Given the description of an element on the screen output the (x, y) to click on. 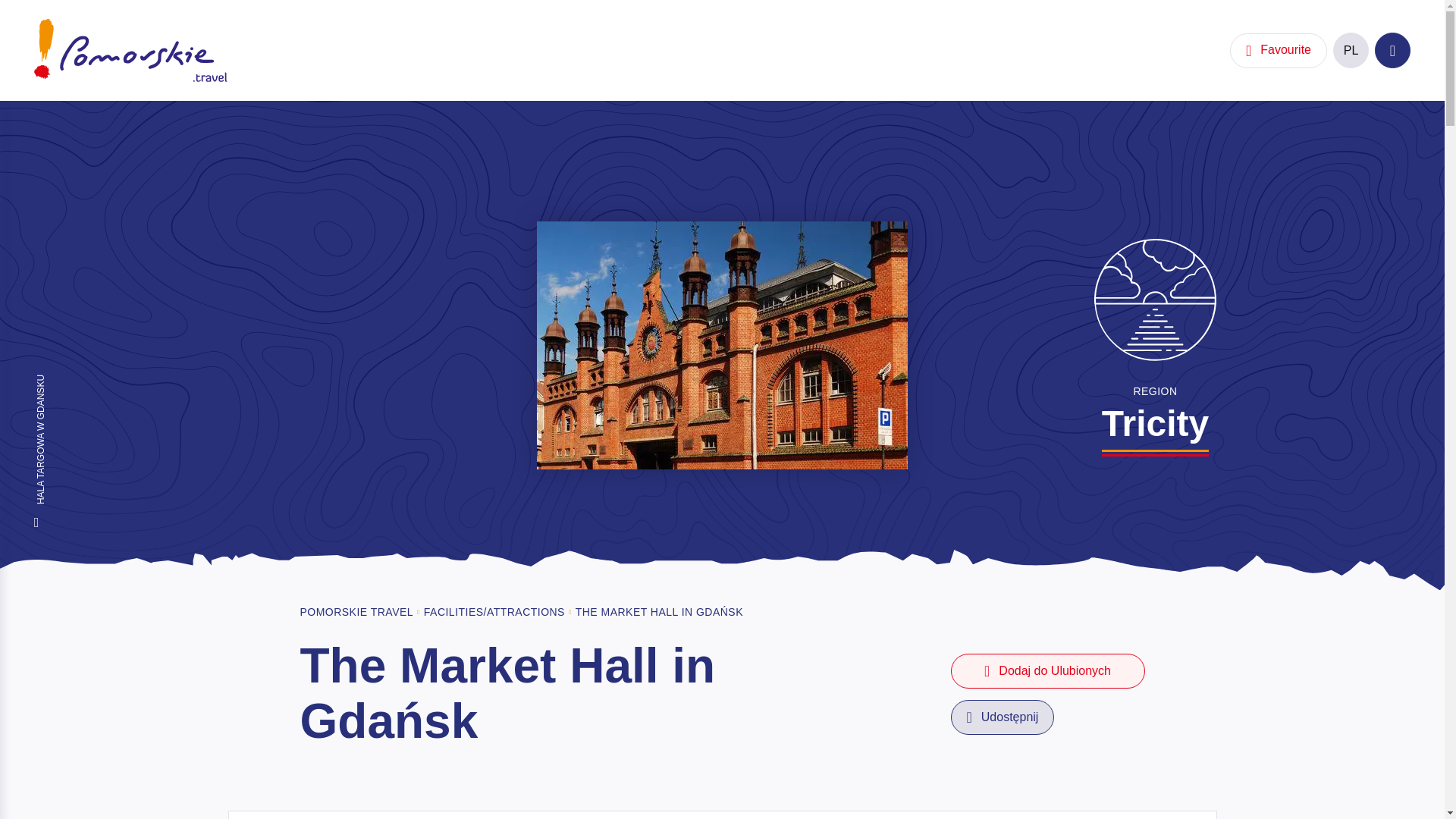
PL (1350, 49)
Dodaj do Ulubionych (1047, 670)
Favourite (1278, 50)
POMORSKIE TRAVEL (356, 612)
